Given the description of an element on the screen output the (x, y) to click on. 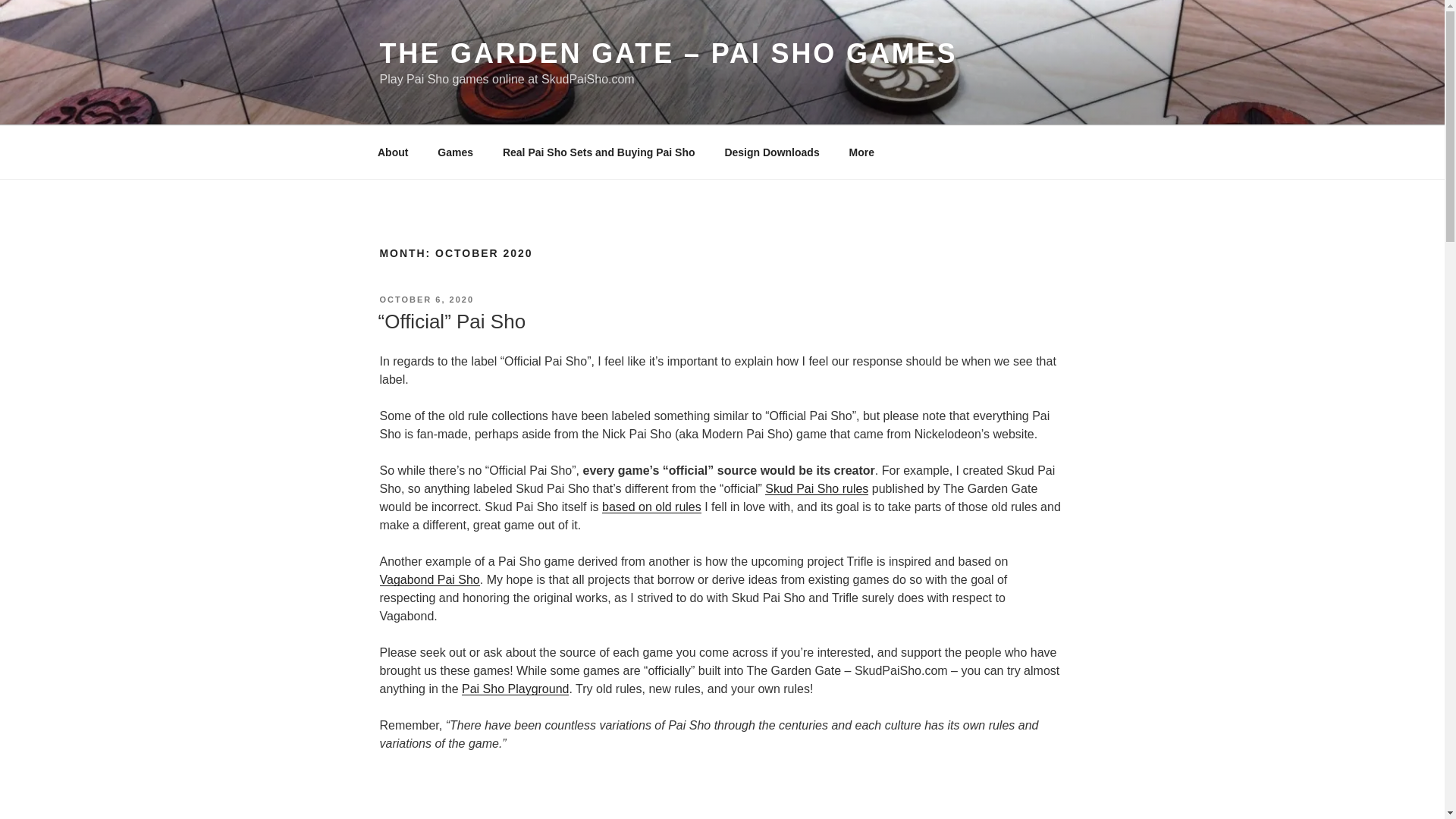
More (860, 151)
Games (455, 151)
About (392, 151)
Real Pai Sho Sets and Buying Pai Sho (598, 151)
Design Downloads (771, 151)
